Given the description of an element on the screen output the (x, y) to click on. 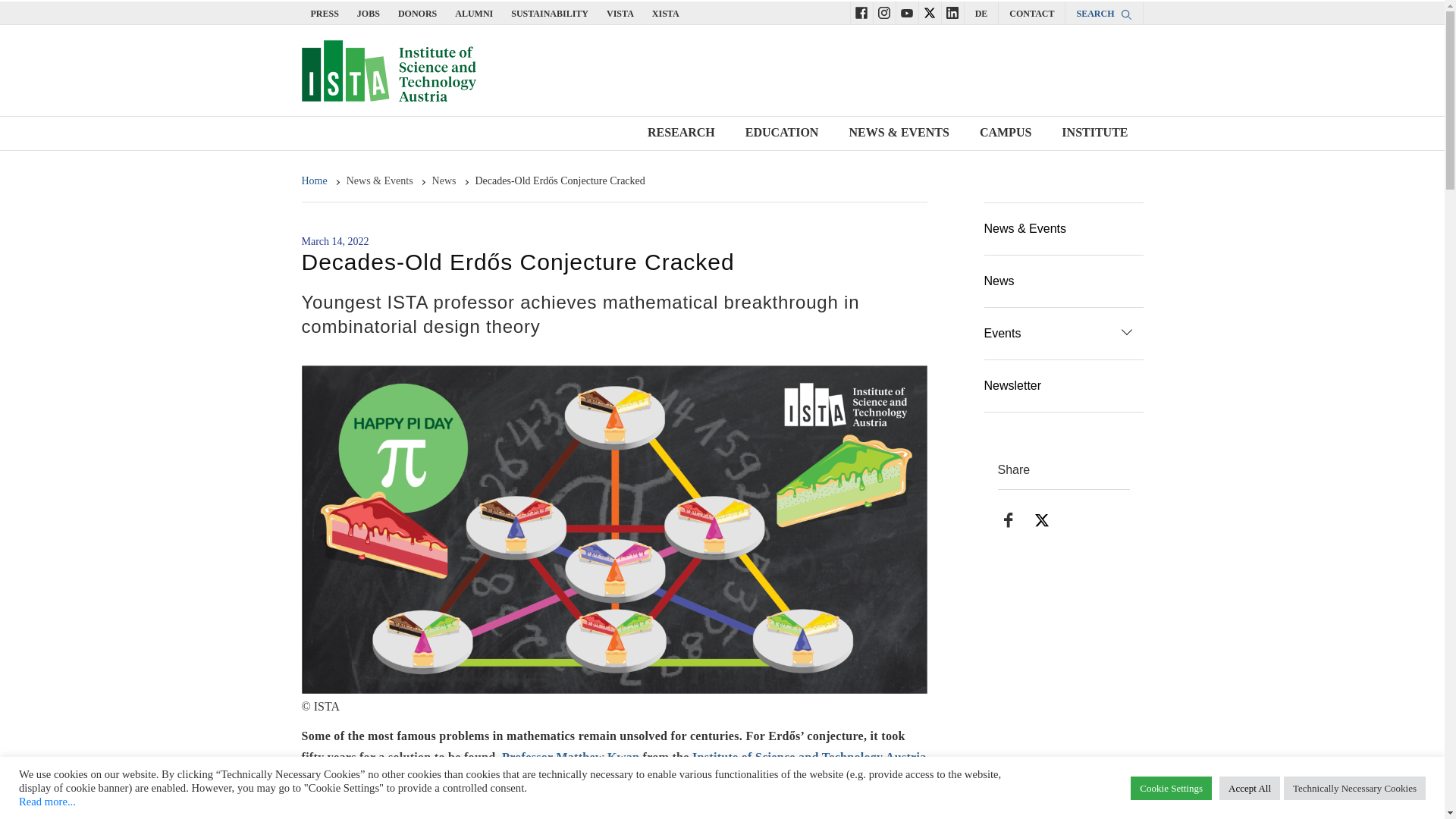
CONTACT (1031, 13)
SEARCH (1103, 13)
RESEARCH (680, 133)
Navigate to ISTA Facebook account (861, 12)
SUSTAINABILITY (549, 13)
JOBS (368, 13)
Navigate to ISTA Instagram account (883, 12)
XISTA (665, 13)
Navigate to ISTA YouTube account (906, 12)
PRESS (325, 13)
Navigate to ISTA Twitter account (929, 12)
DE (981, 13)
ALUMNI (473, 13)
DONORS (416, 13)
Navigate to ISTA LinkedIn account (952, 12)
